Given the description of an element on the screen output the (x, y) to click on. 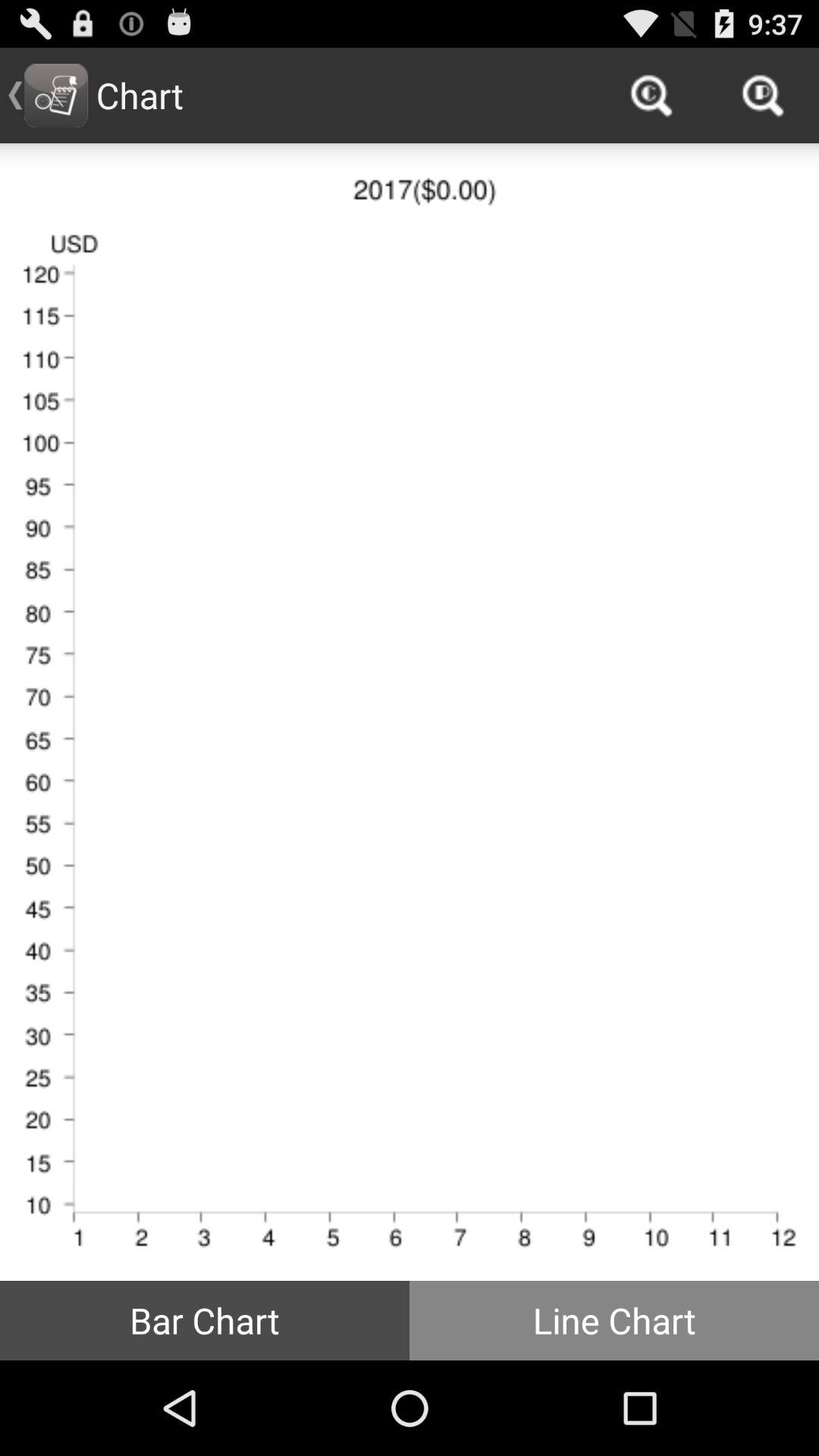
tap item at the bottom right corner (614, 1320)
